Given the description of an element on the screen output the (x, y) to click on. 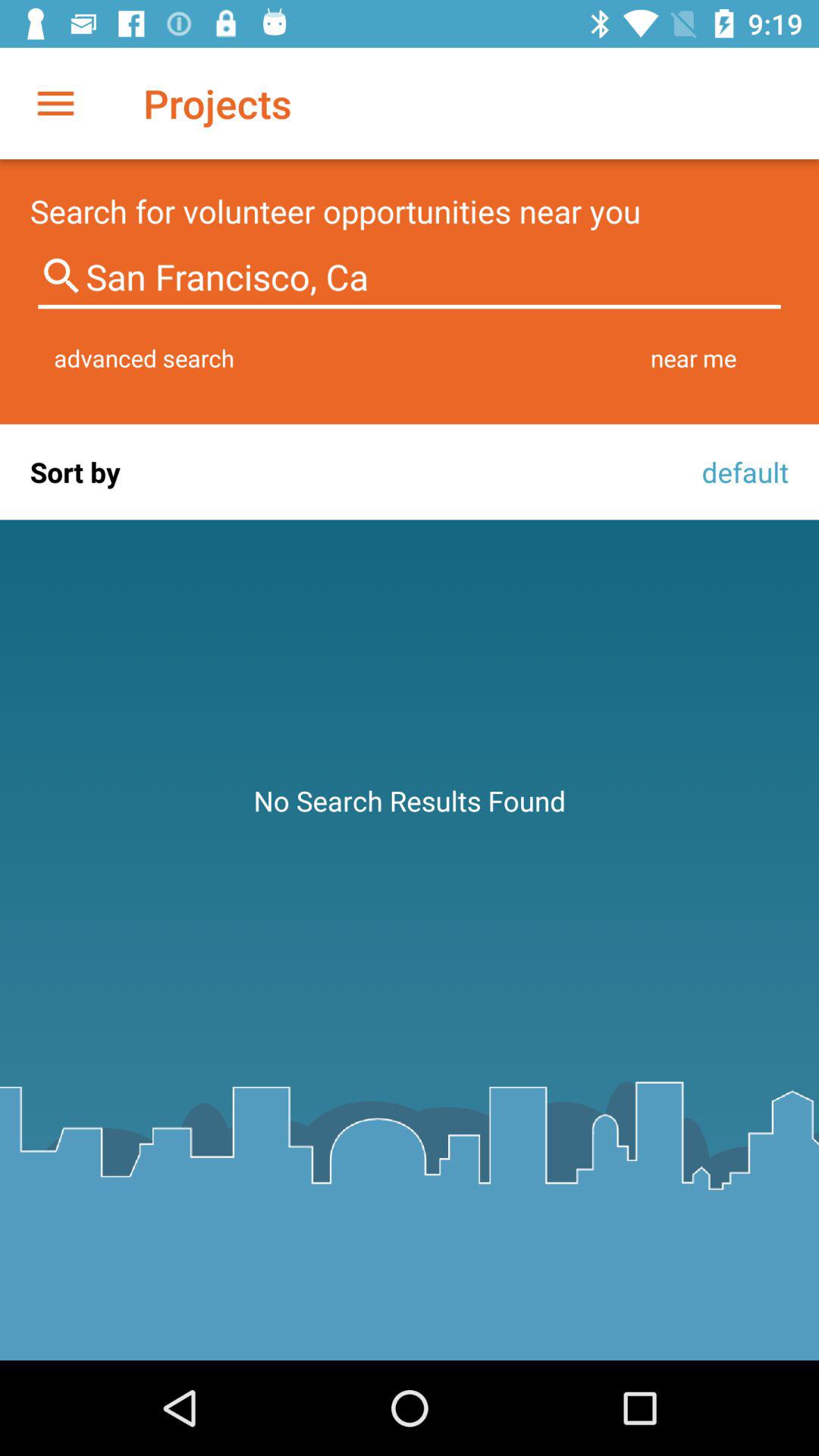
scroll until the default (740, 471)
